Given the description of an element on the screen output the (x, y) to click on. 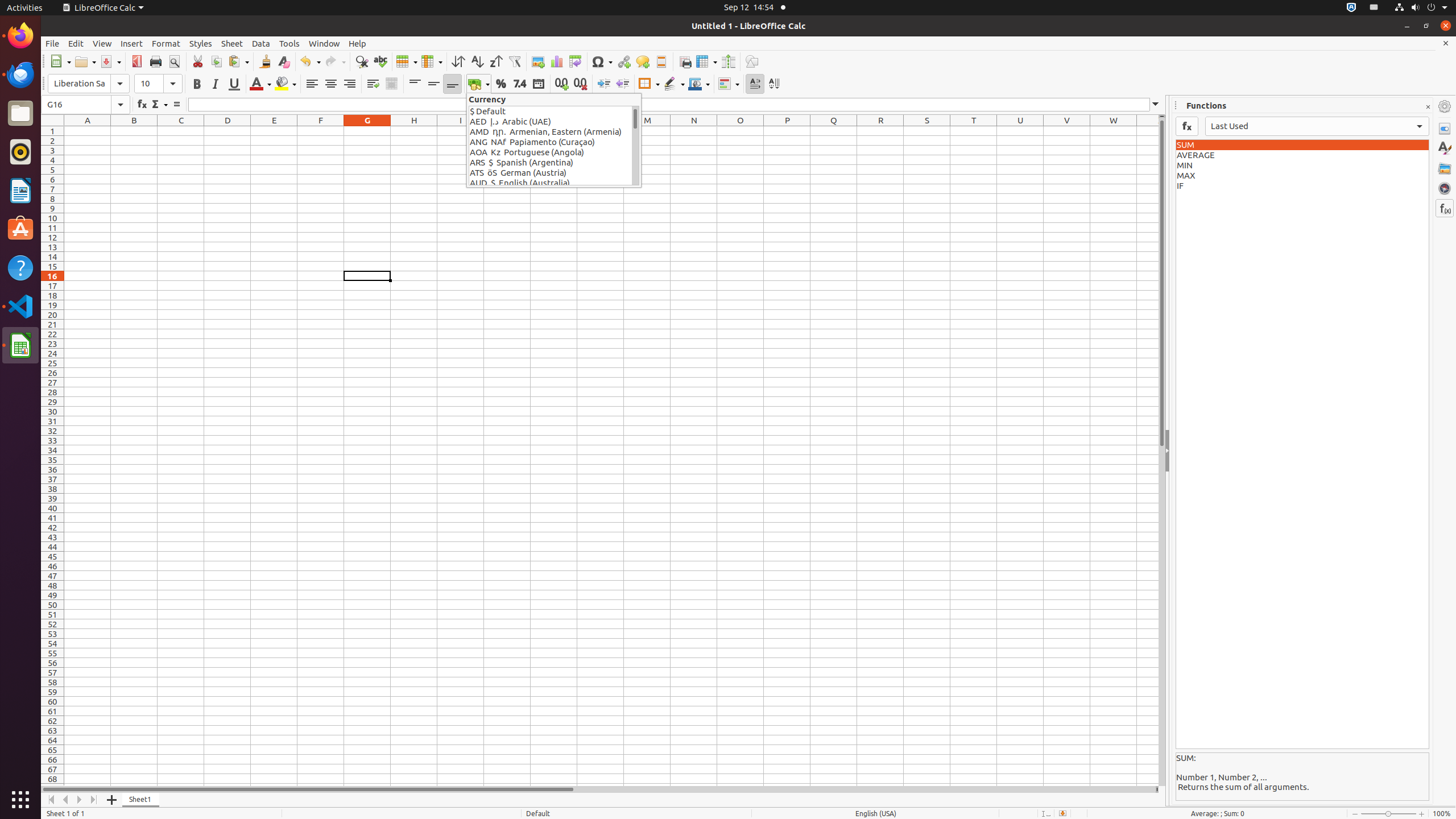
Thunderbird Mail Element type: push-button (20, 74)
N1 Element type: table-cell (693, 130)
‪AMD‬  ‪դր.‬  ‪Armenian, Eastern (Armenia)‬ Element type: list-item (550, 131)
File Element type: menu (51, 43)
A1 Element type: table-cell (87, 130)
